Given the description of an element on the screen output the (x, y) to click on. 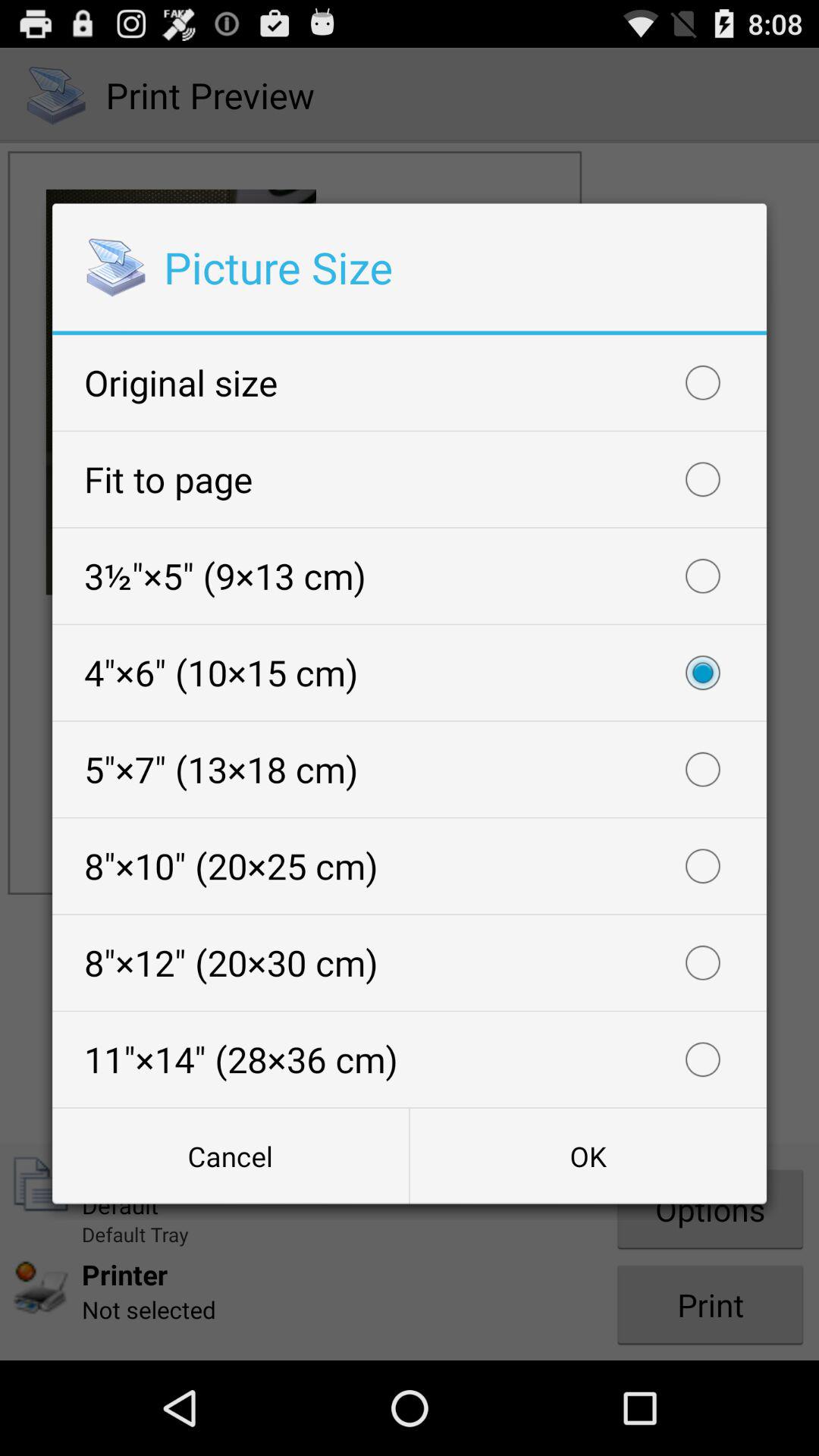
click checkbox below the 11 14 28 checkbox (588, 1156)
